Given the description of an element on the screen output the (x, y) to click on. 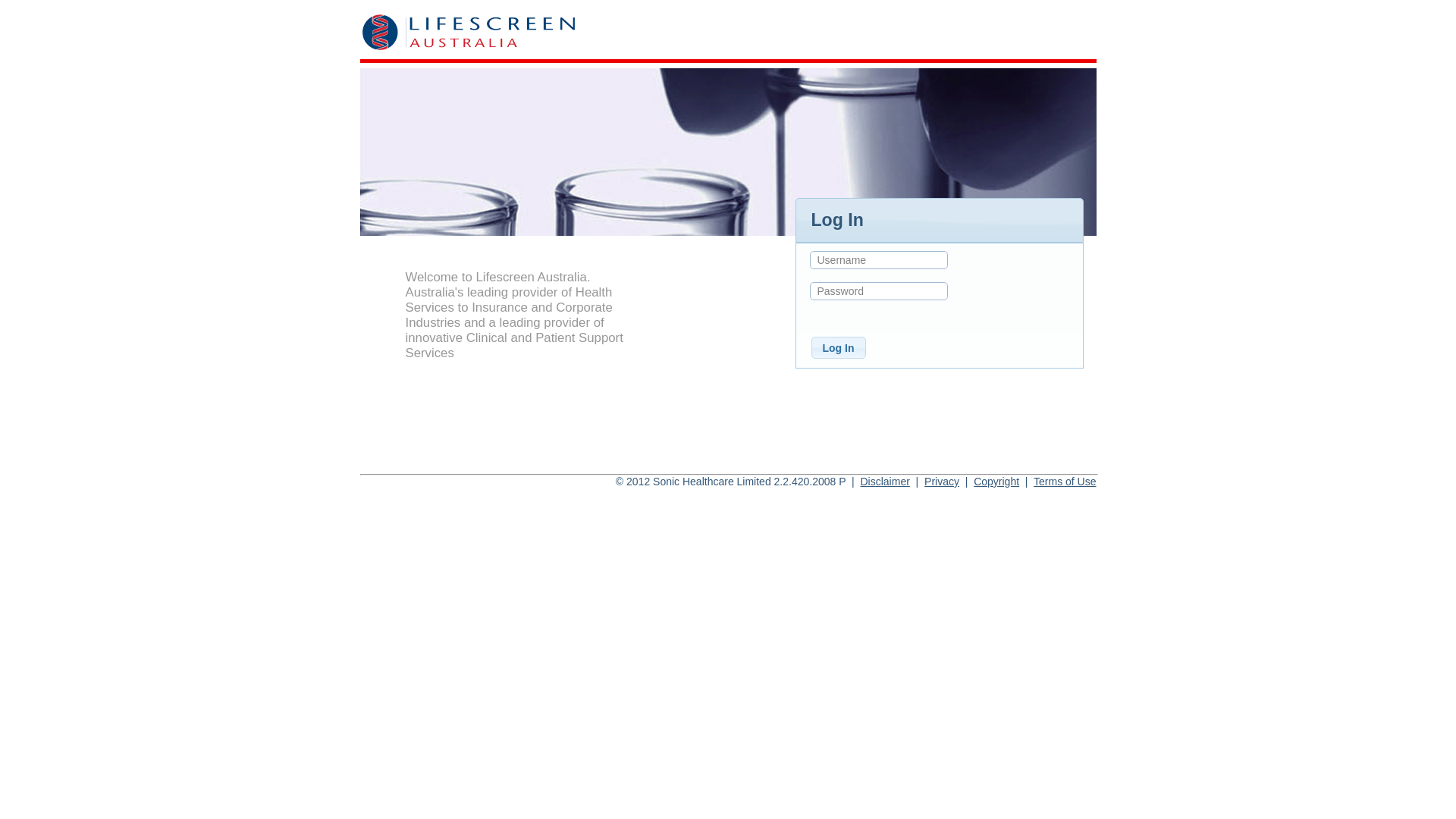
Terms of Use Element type: text (1064, 481)
Log In Element type: text (838, 347)
Privacy Element type: text (941, 481)
Copyright Element type: text (996, 481)
Disclaimer Element type: text (884, 481)
